Given the description of an element on the screen output the (x, y) to click on. 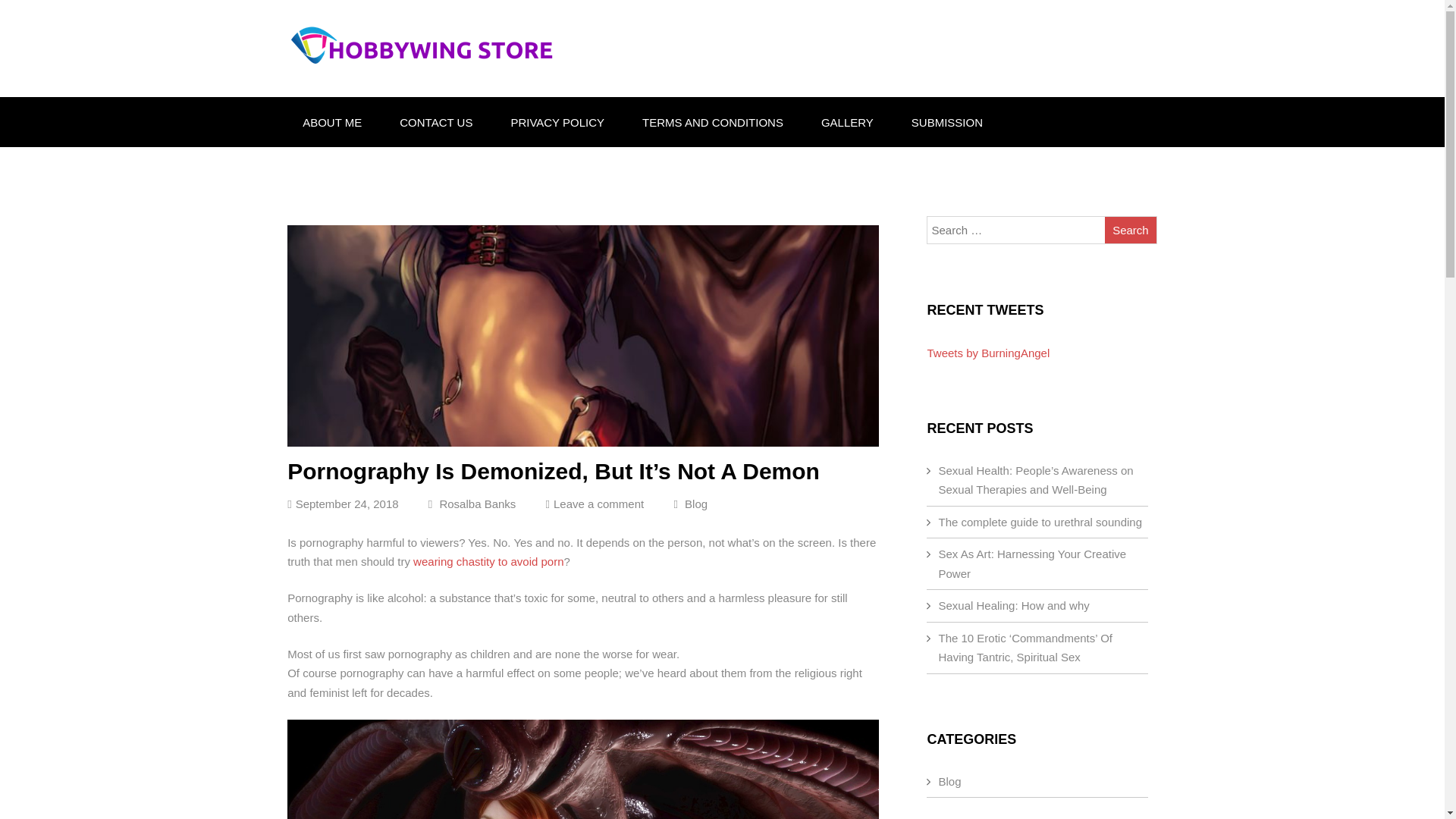
Blog (695, 503)
ABOUT ME (331, 122)
CONTACT US (435, 122)
TERMS AND CONDITIONS (712, 122)
Search (1130, 230)
Sex As Art: Harnessing Your Creative Power (1031, 563)
Rosalba Banks (472, 503)
wearing chastity to avoid porn (488, 561)
Sexual Healing: How and why (1013, 604)
Tweets by BurningAngel (987, 352)
GALLERY (847, 122)
Blog (948, 780)
The complete guide to urethral sounding (1039, 521)
SUBMISSION (946, 122)
Search (1130, 230)
